Given the description of an element on the screen output the (x, y) to click on. 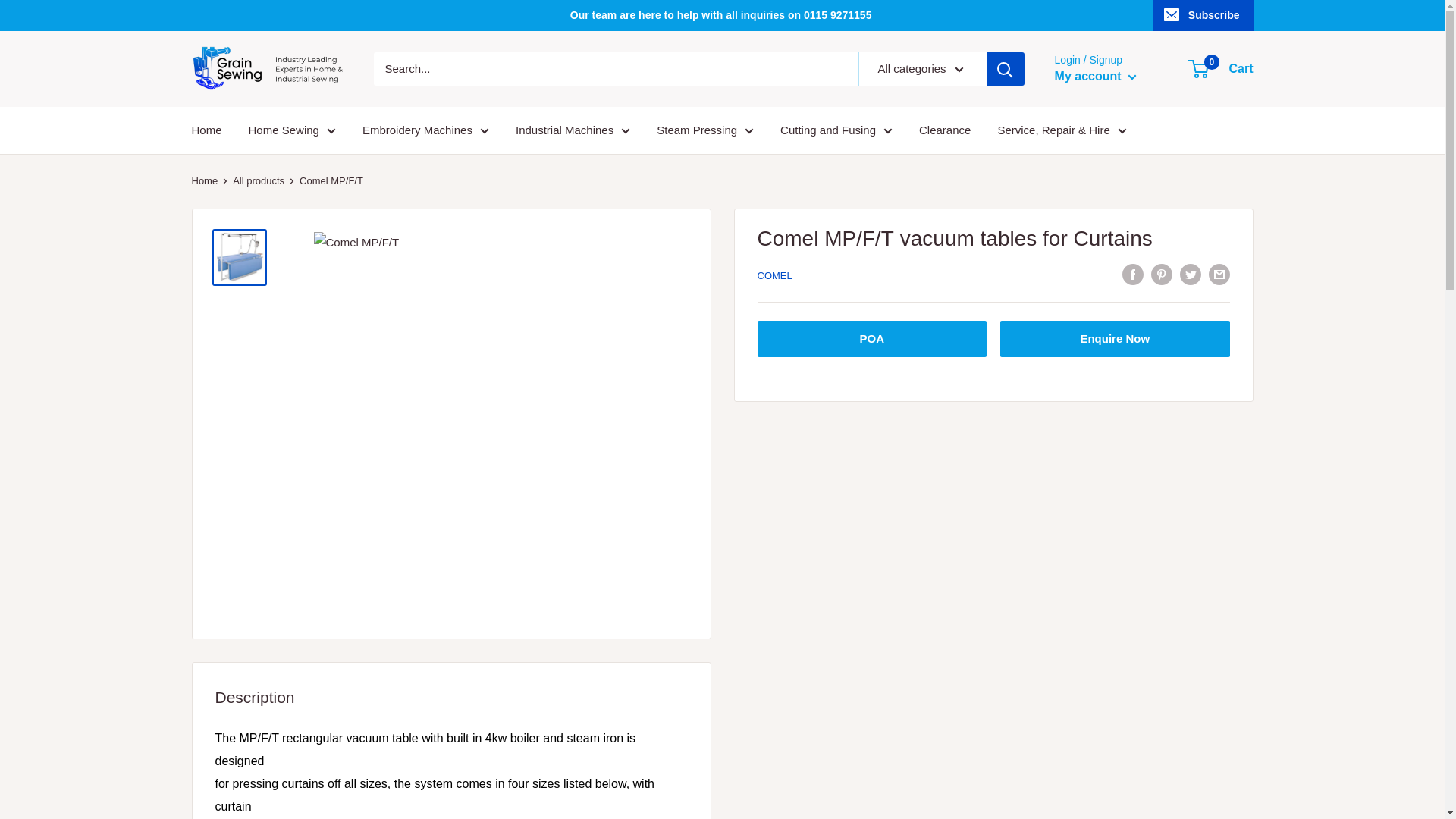
Subscribe (1203, 15)
